Given the description of an element on the screen output the (x, y) to click on. 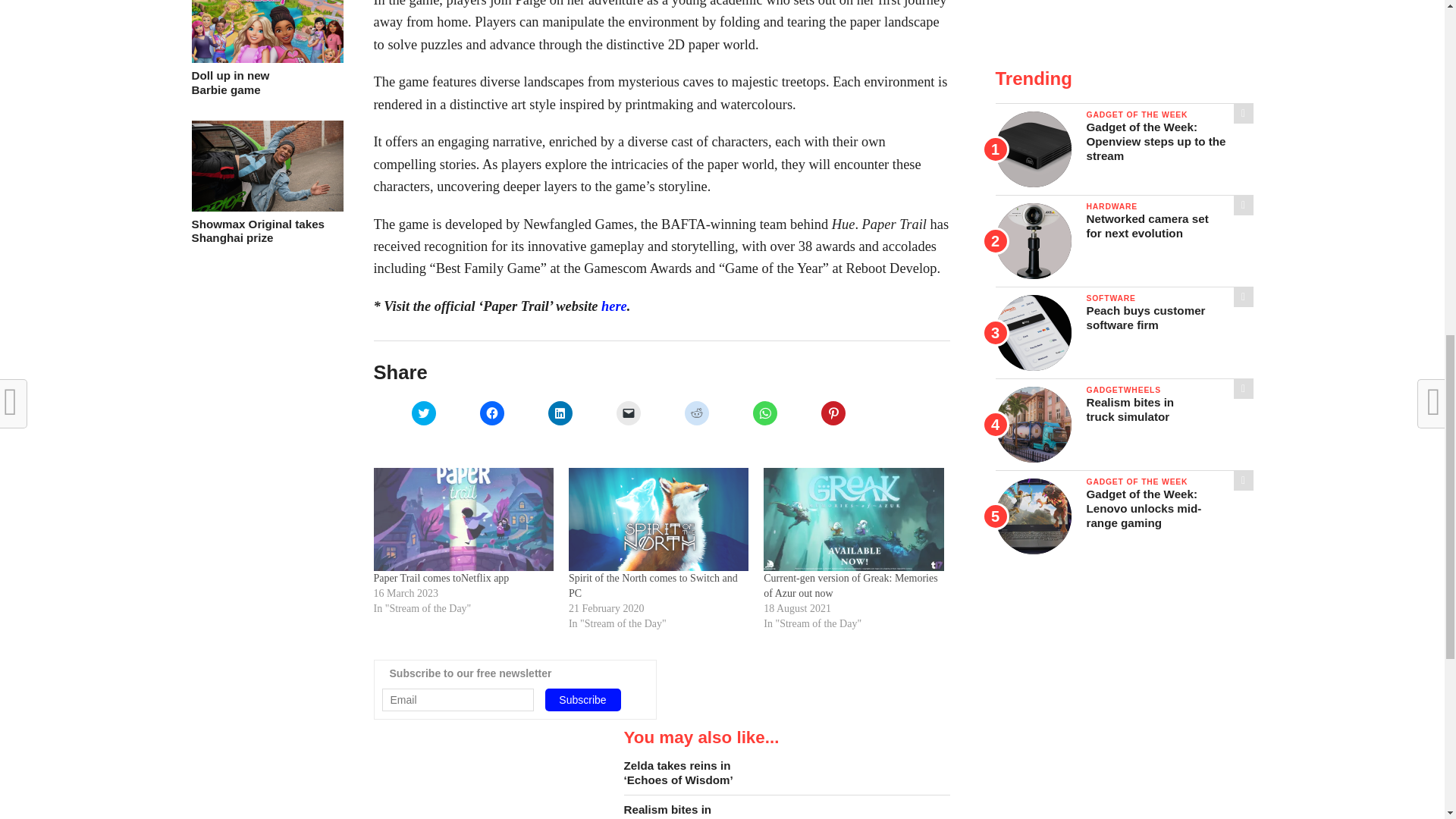
Click to share on Twitter (422, 413)
Showmax Original takes Shanghai prize (266, 206)
Click to share on LinkedIn (266, 82)
Showmax Original takes Shanghai prize (559, 413)
Subscribe (266, 231)
Click to share on Facebook (582, 699)
